Given the description of an element on the screen output the (x, y) to click on. 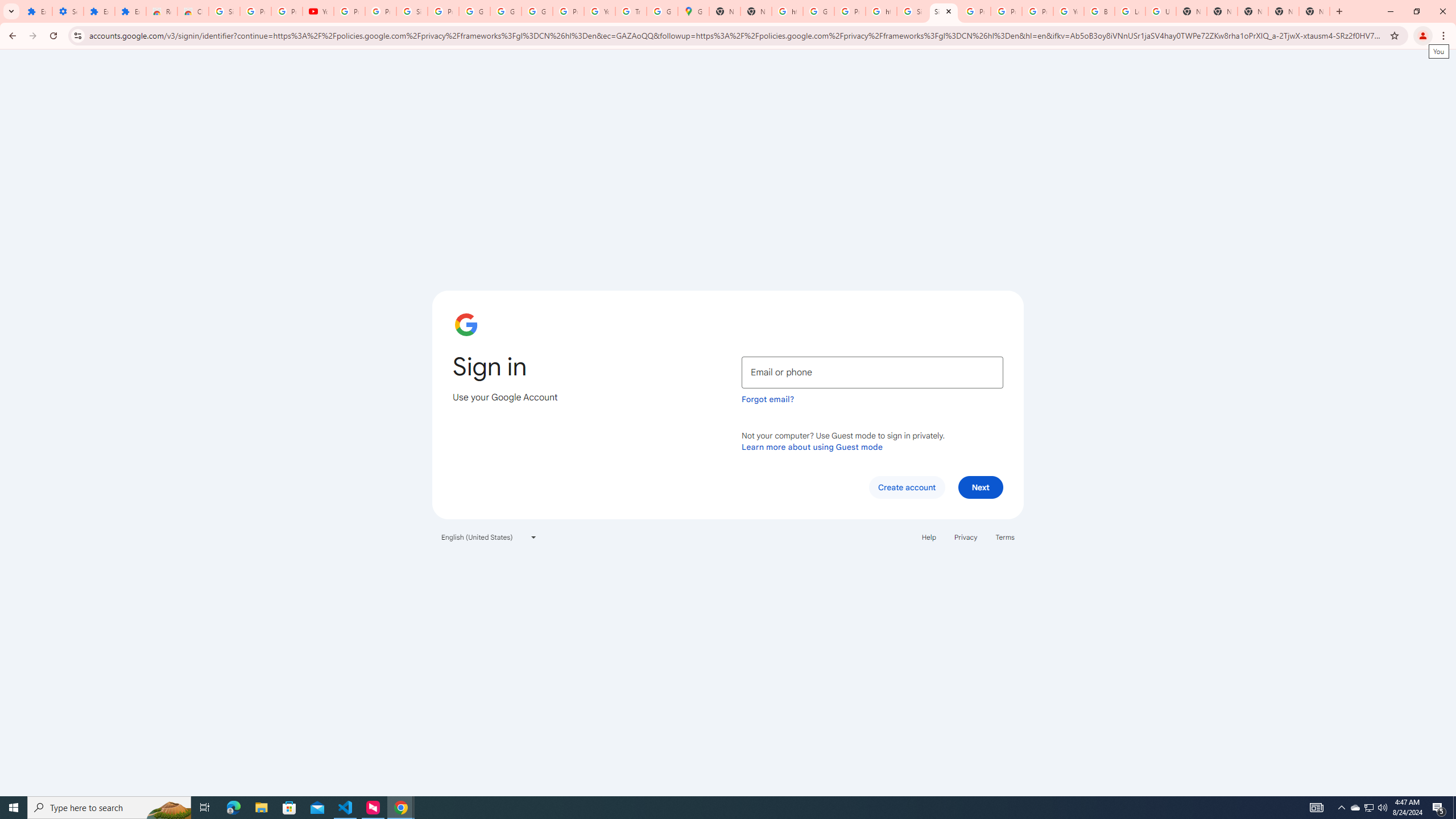
Settings (67, 11)
Reviews: Helix Fruit Jump Arcade Game (161, 11)
Extensions (98, 11)
YouTube (318, 11)
Chrome Web Store - Themes (192, 11)
